Given the description of an element on the screen output the (x, y) to click on. 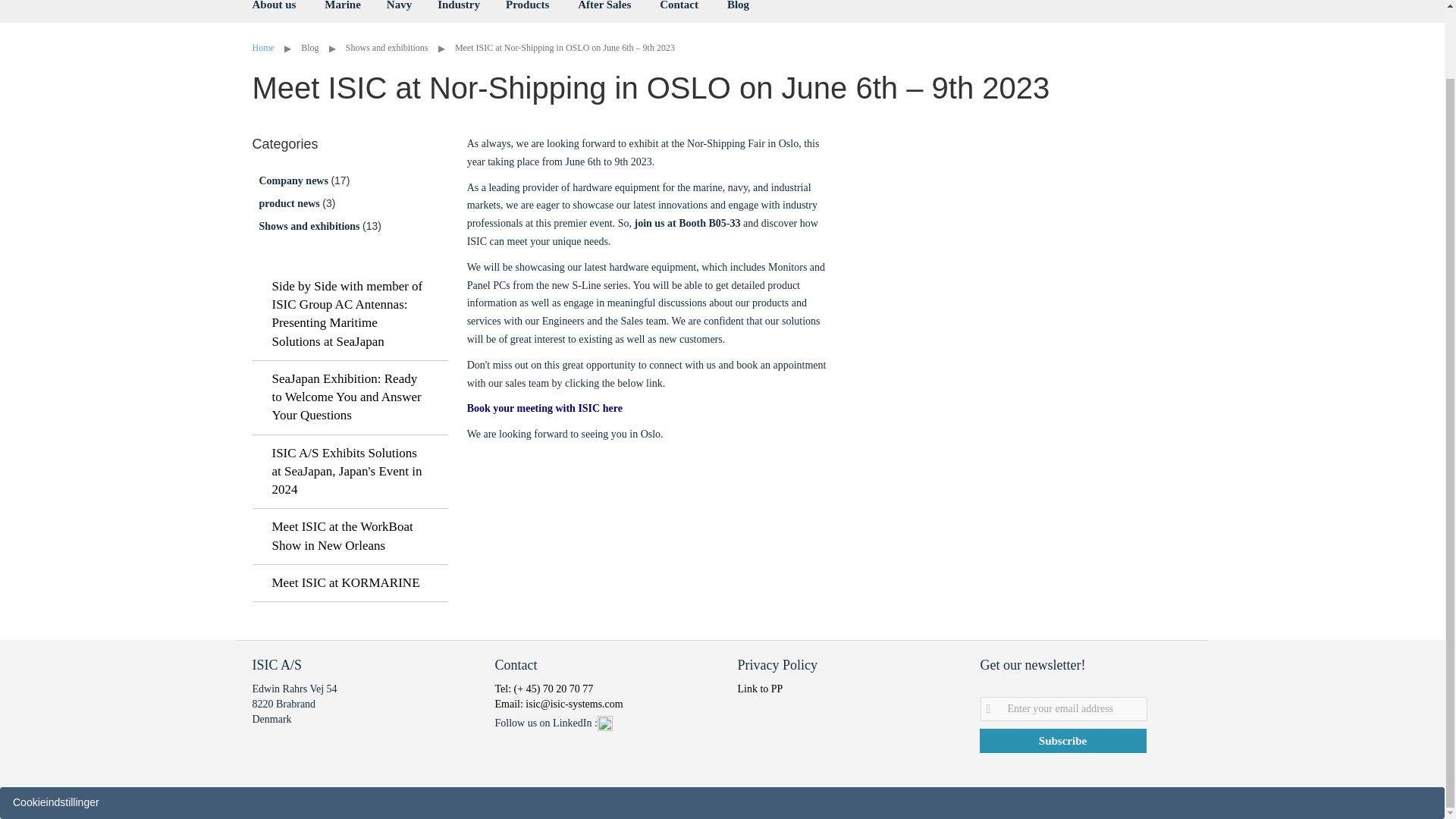
Book your meeting with ISIC here (545, 408)
product news (291, 203)
Meet ISIC at the WorkBoat Show in New Orleans (348, 536)
Blog (310, 47)
About us (273, 11)
Shows and exhibitions (388, 47)
After Sales (604, 11)
Shows and exhibitions (310, 225)
Company news (295, 180)
Shows and exhibitions (388, 47)
Meet ISIC at KORMARINE (348, 583)
Blog (737, 11)
Home (263, 47)
Meet ISIC at the WorkBoat Show in New Orleans  (348, 536)
